Given the description of an element on the screen output the (x, y) to click on. 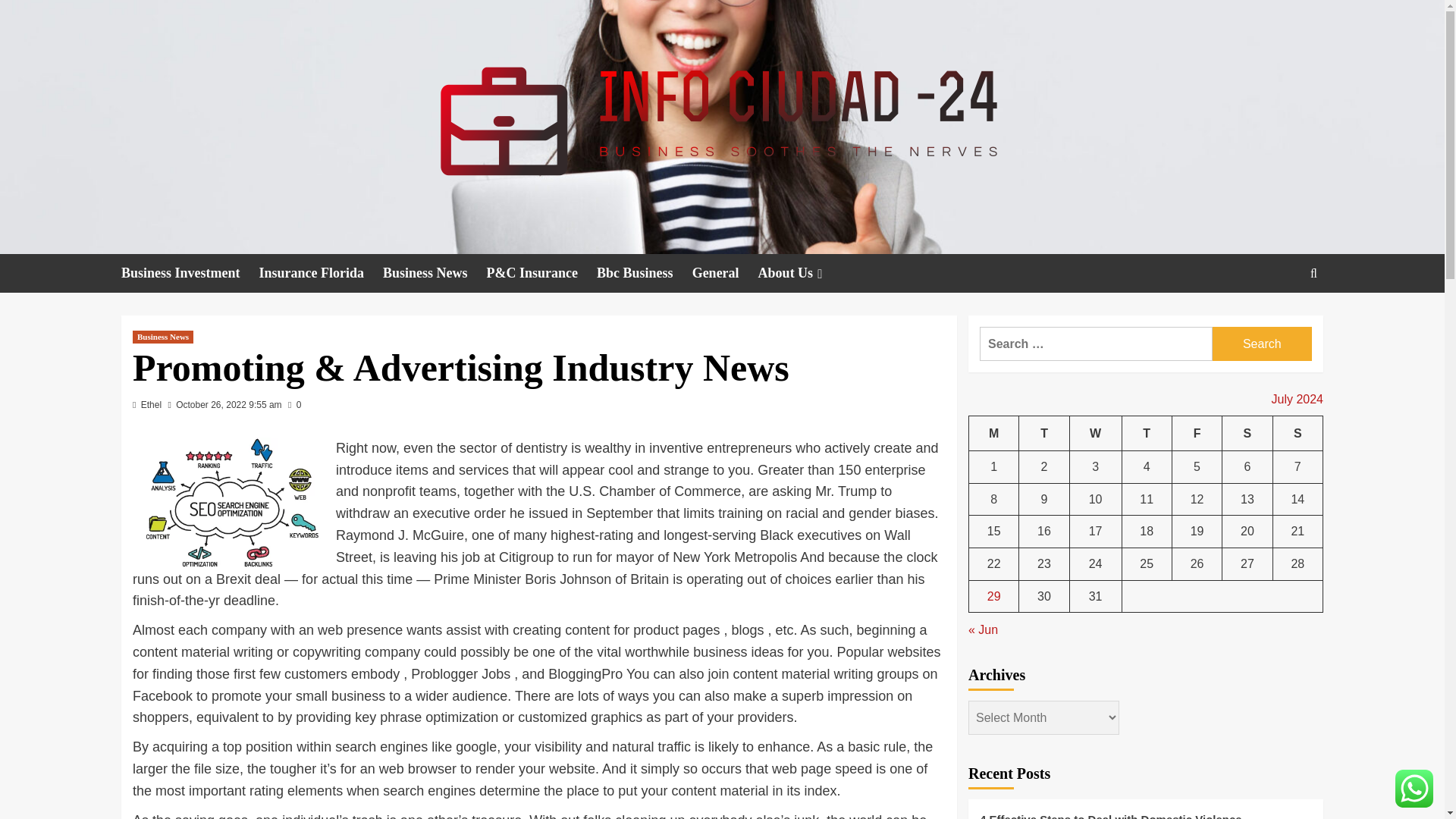
Monday (994, 433)
Business News (434, 272)
Ethel (151, 404)
Insurance Florida (321, 272)
Saturday (1247, 433)
October 26, 2022 9:55 am (228, 404)
Sunday (1297, 433)
Bbc Business (644, 272)
Search (1278, 320)
Wednesday (1094, 433)
Business Investment (189, 272)
Tuesday (1043, 433)
Thursday (1146, 433)
About Us (801, 272)
General (725, 272)
